Given the description of an element on the screen output the (x, y) to click on. 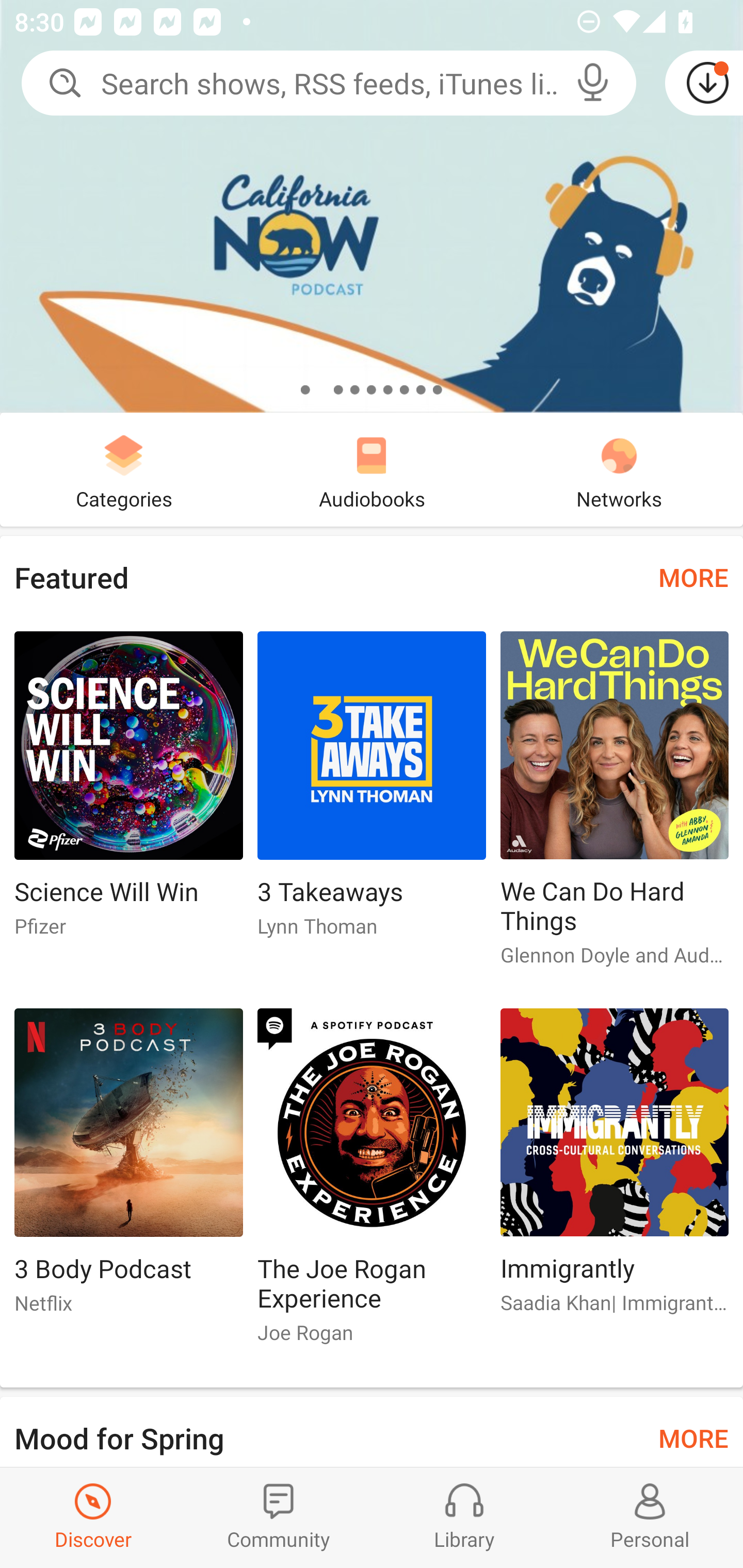
California Now Podcast (371, 206)
Categories (123, 469)
Audiobooks (371, 469)
Networks (619, 469)
MORE (693, 576)
Science Will Win Science Will Win Pfizer (128, 792)
3 Takeaways 3 Takeaways Lynn Thoman (371, 792)
3 Body Podcast 3 Body Podcast Netflix (128, 1169)
MORE (693, 1436)
Discover (92, 1517)
Community (278, 1517)
Library (464, 1517)
Profiles and Settings Personal (650, 1517)
